Given the description of an element on the screen output the (x, y) to click on. 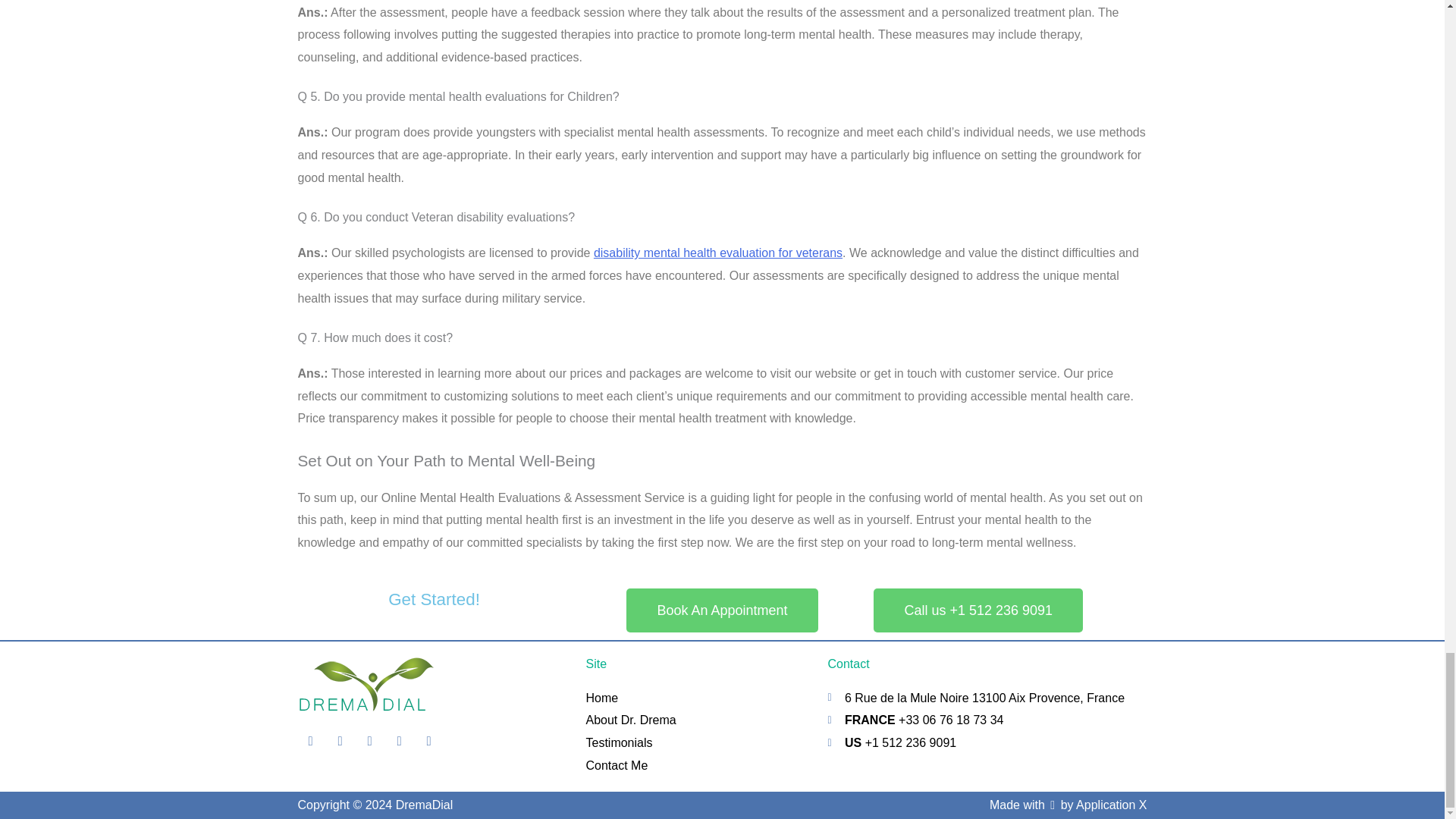
Book An Appointment (721, 610)
Made with by Application X (1068, 804)
Youtube (368, 740)
Instagram (399, 740)
Contact Me (698, 765)
About Dr. Drema (698, 720)
disability mental health evaluation for veterans (718, 252)
Testimonials (698, 743)
Twitter (340, 740)
Linkedin (427, 740)
Facebook (310, 740)
Home (698, 698)
